Given the description of an element on the screen output the (x, y) to click on. 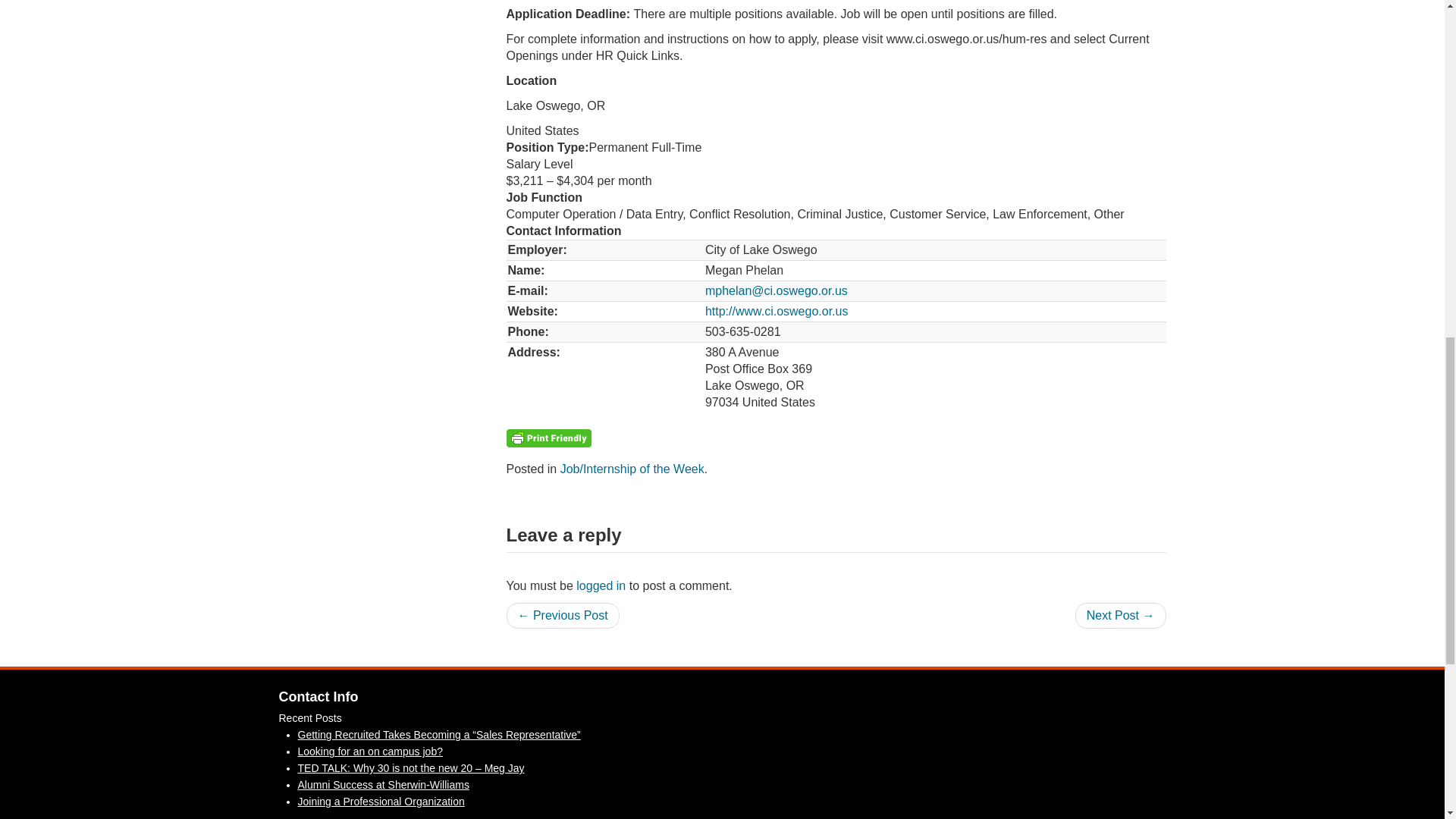
Looking for an on campus job? (369, 751)
Alumni Success at Sherwin-Williams (382, 784)
logged in (601, 585)
Joining a Professional Organization (380, 801)
